Given the description of an element on the screen output the (x, y) to click on. 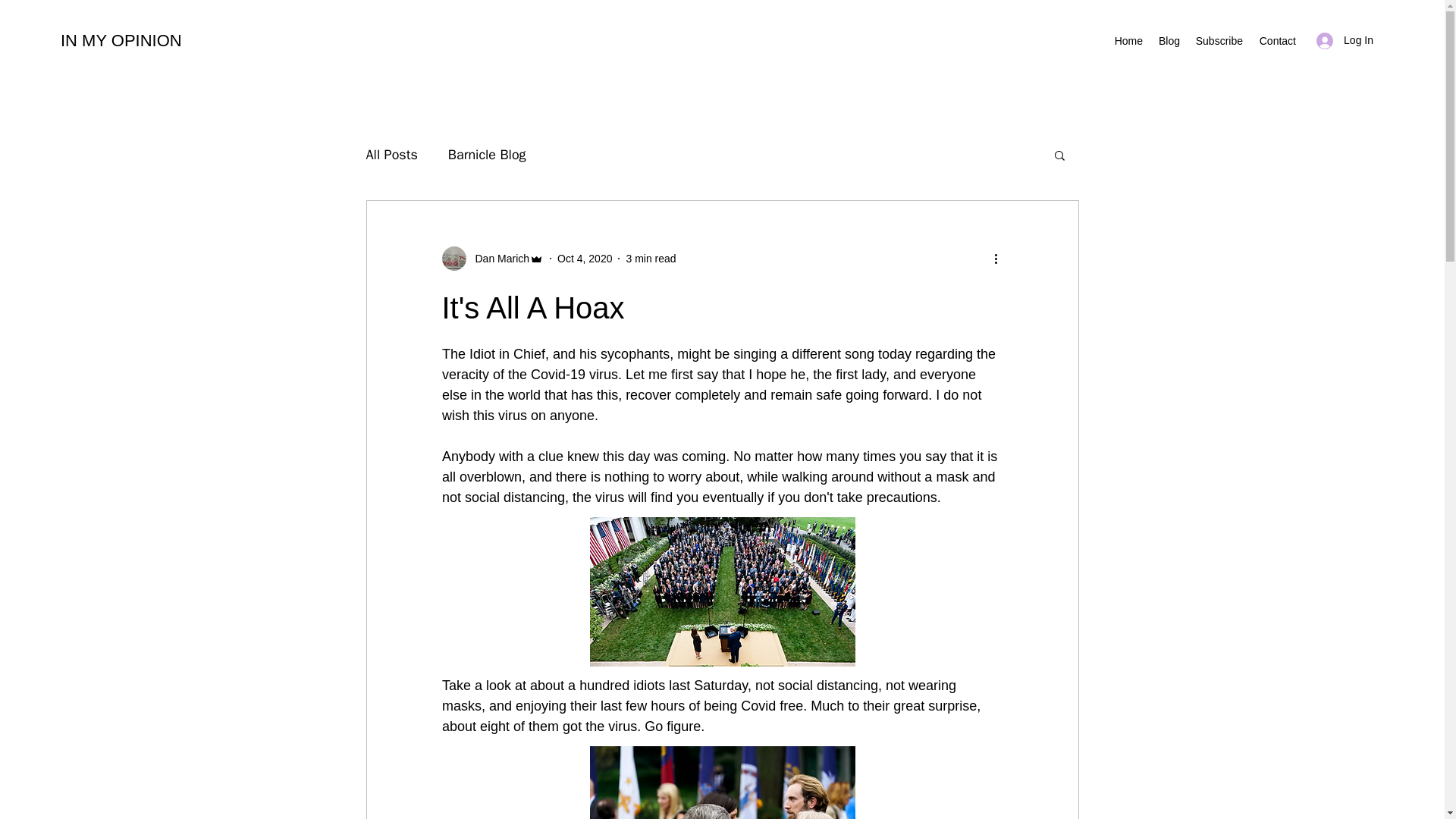
3 min read (650, 257)
IN MY OPINION (121, 40)
Contact (1276, 40)
All Posts (390, 154)
Log In (1345, 40)
Blog (1169, 40)
Subscribe (1219, 40)
Dan Marich (492, 258)
Home (1128, 40)
Dan Marich (497, 258)
Barnicle Blog (486, 154)
Oct 4, 2020 (584, 257)
